Given the description of an element on the screen output the (x, y) to click on. 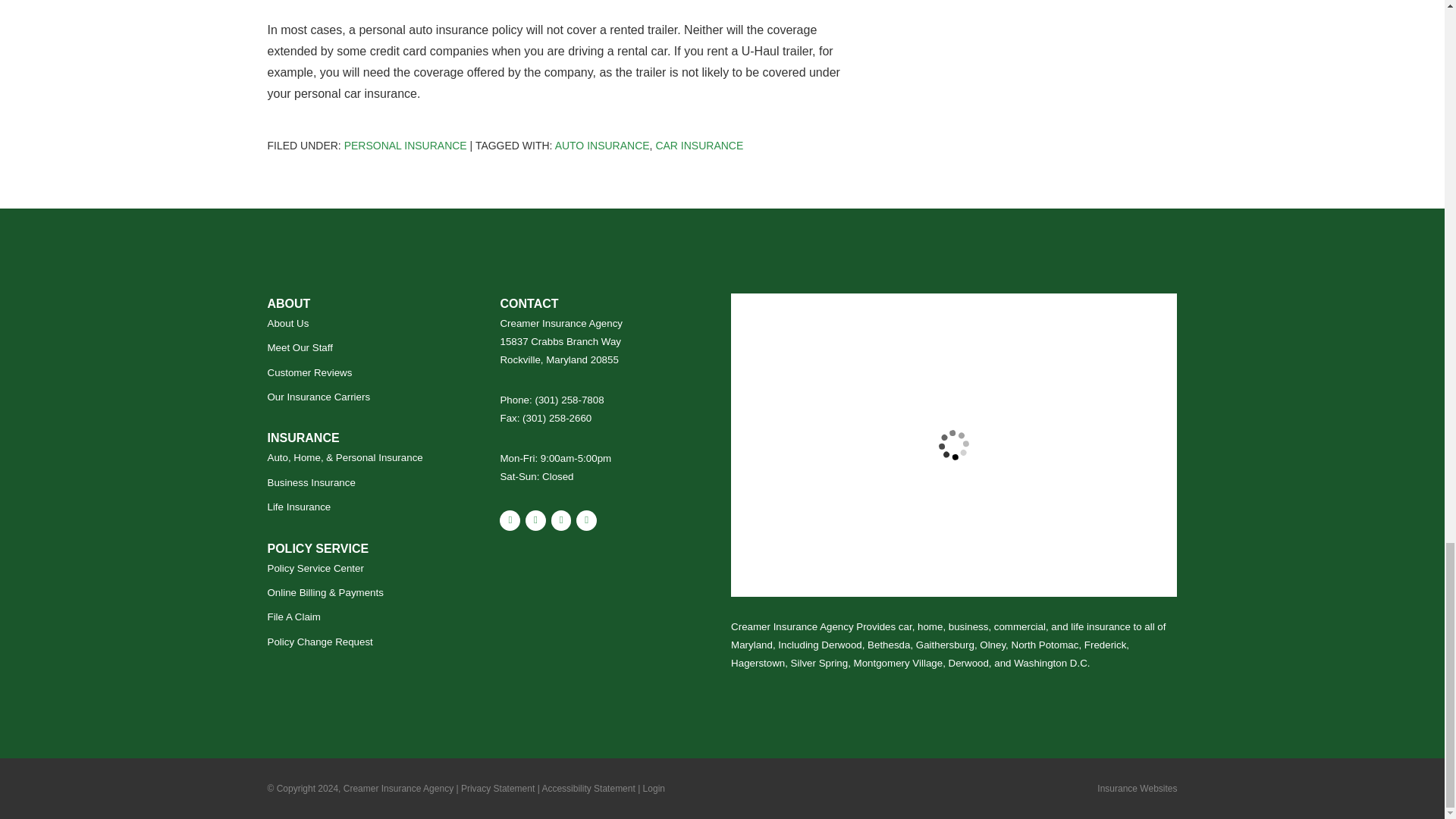
Auto Insurance (601, 145)
Yelp (535, 520)
Car Insurance (698, 145)
Personal Insurance (405, 145)
LinkedIn (586, 520)
Facebook (561, 520)
Google Maps (509, 520)
